Given the description of an element on the screen output the (x, y) to click on. 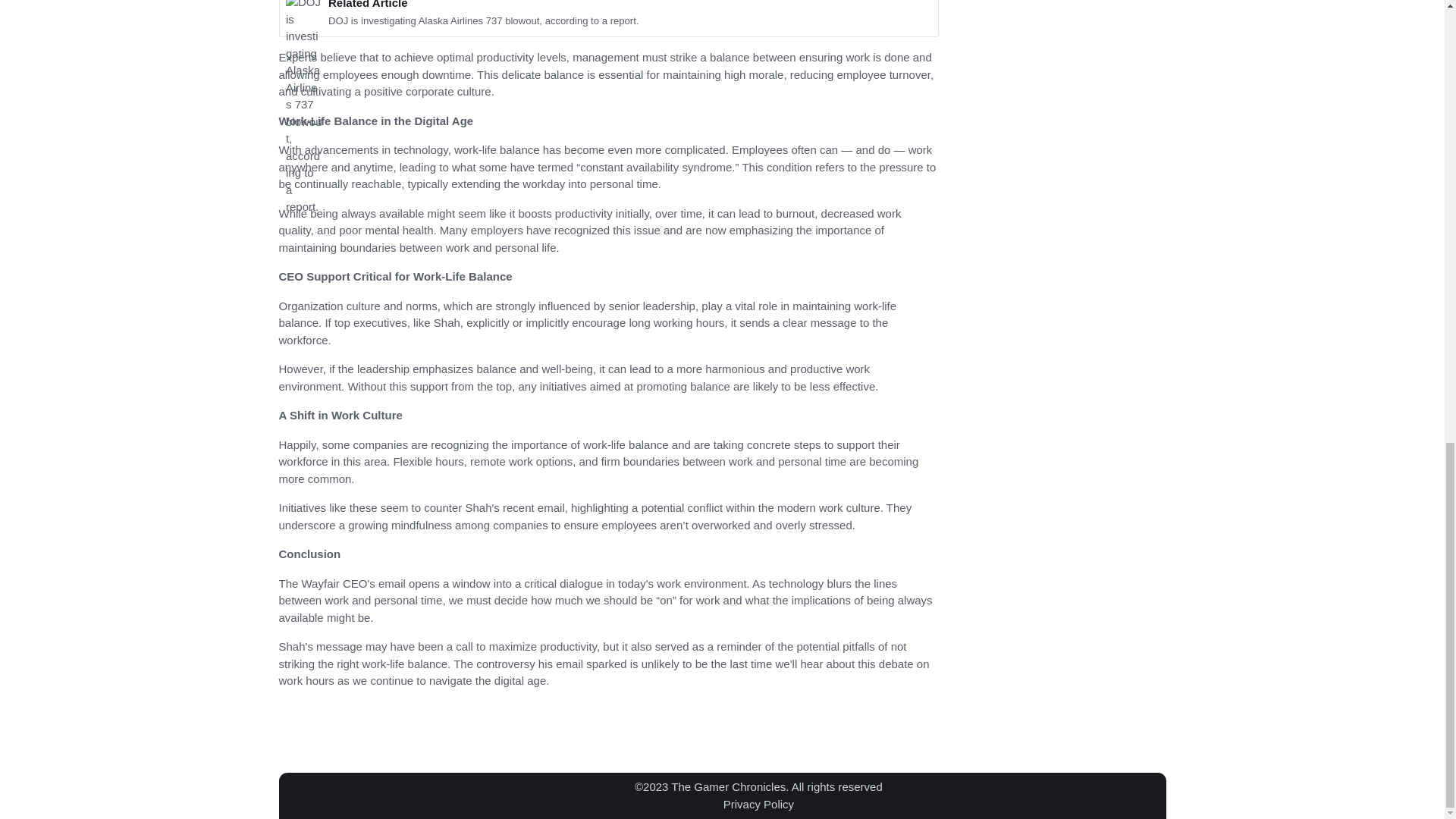
The Gamer Chronicles (728, 786)
Privacy Policy (757, 802)
